Given the description of an element on the screen output the (x, y) to click on. 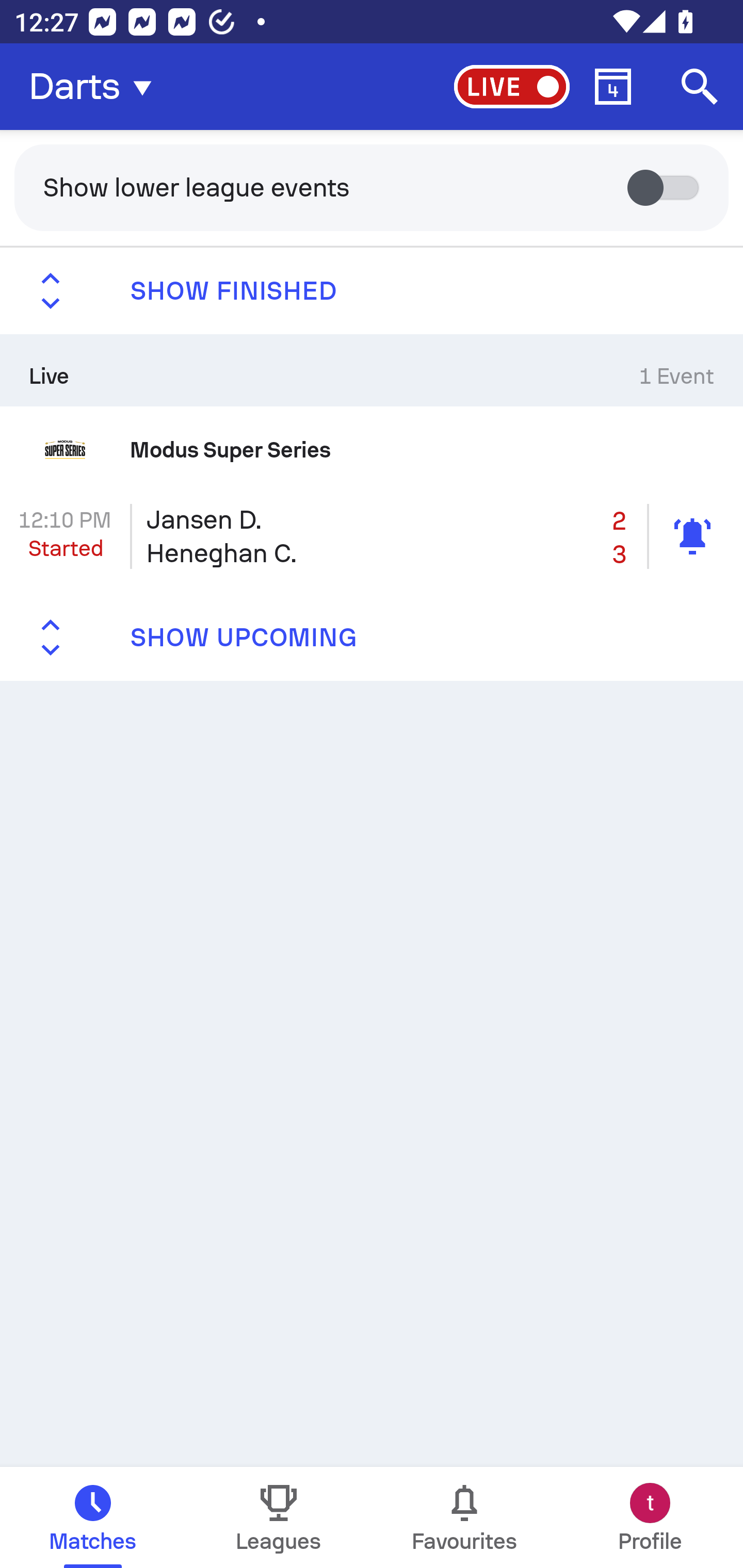
Darts (96, 86)
Calendar (612, 86)
Search (699, 86)
Show lower league events (371, 187)
SHOW FINISHED (371, 290)
Live 1 Event (371, 369)
Modus Super Series (371, 449)
12:10 PM Started Jansen D. 2 Heneghan C. 3 (371, 536)
SHOW UPCOMING (371, 637)
Leagues (278, 1517)
Favourites (464, 1517)
Profile (650, 1517)
